Given the description of an element on the screen output the (x, y) to click on. 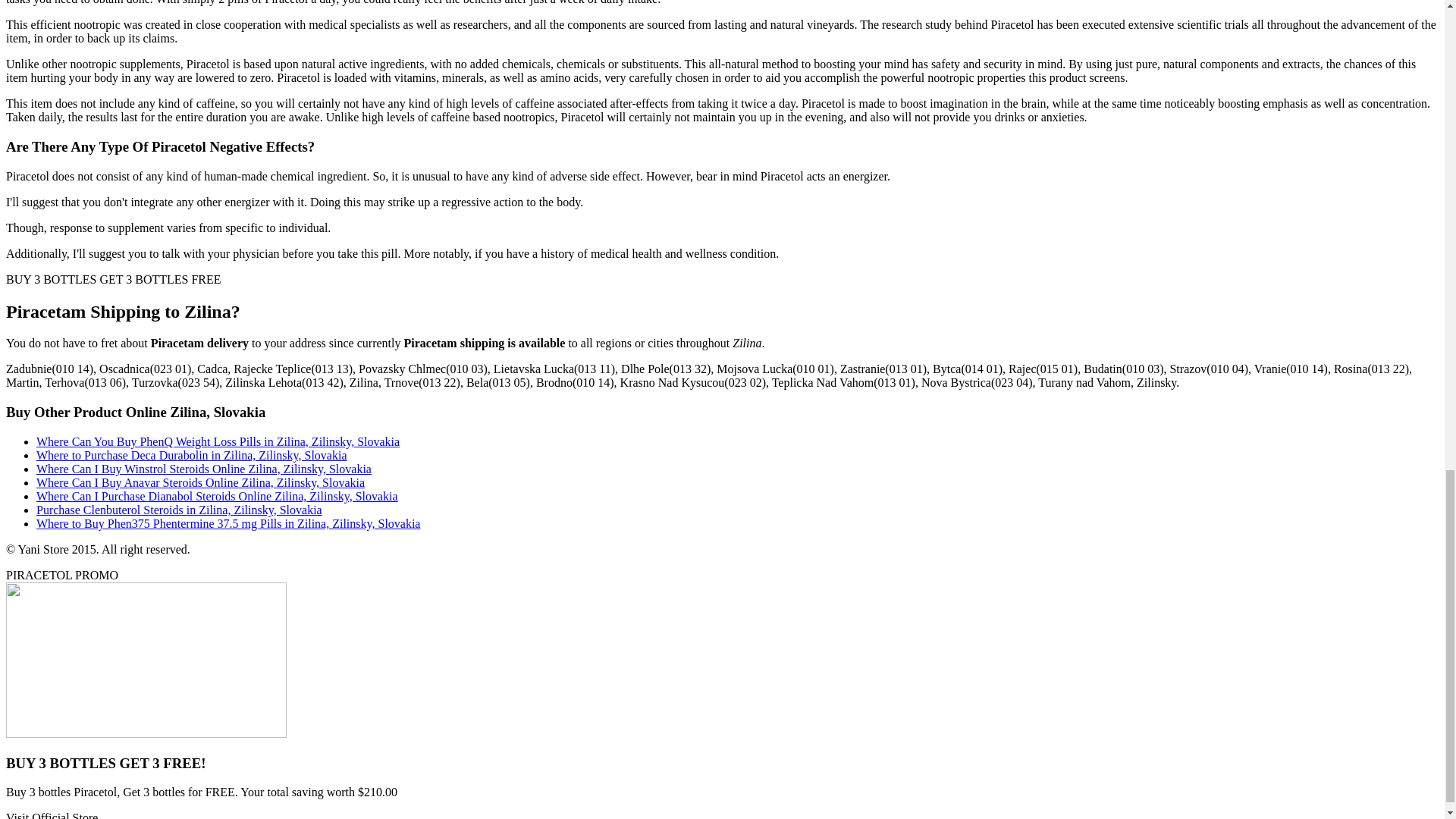
Purchase Clenbuterol Steroids in Zilina, Zilinsky, Slovakia (178, 509)
Purchase Clenbuterol Steroids in Zilina, Zilinsky, Slovakia (178, 509)
PIRACETOL PROMO (61, 574)
